Given the description of an element on the screen output the (x, y) to click on. 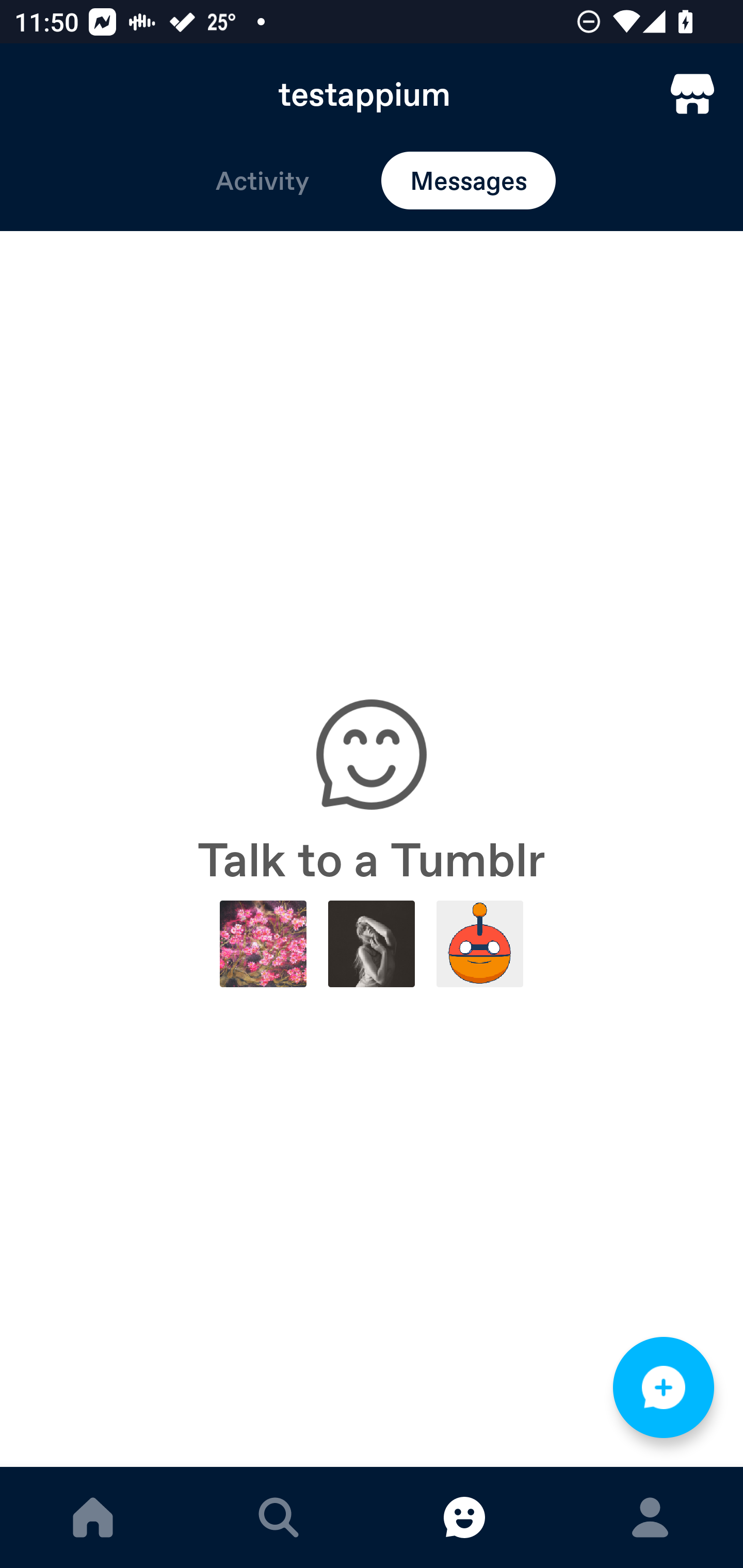
testappium (371, 93)
TumblrMart (692, 94)
Activity Activity Activity (261, 181)
NEW MESSAGE (663, 1387)
DASHBOARD (92, 1517)
EXPLORE (278, 1517)
MESSAGES (464, 1517)
ACCOUNT (650, 1517)
